Given the description of an element on the screen output the (x, y) to click on. 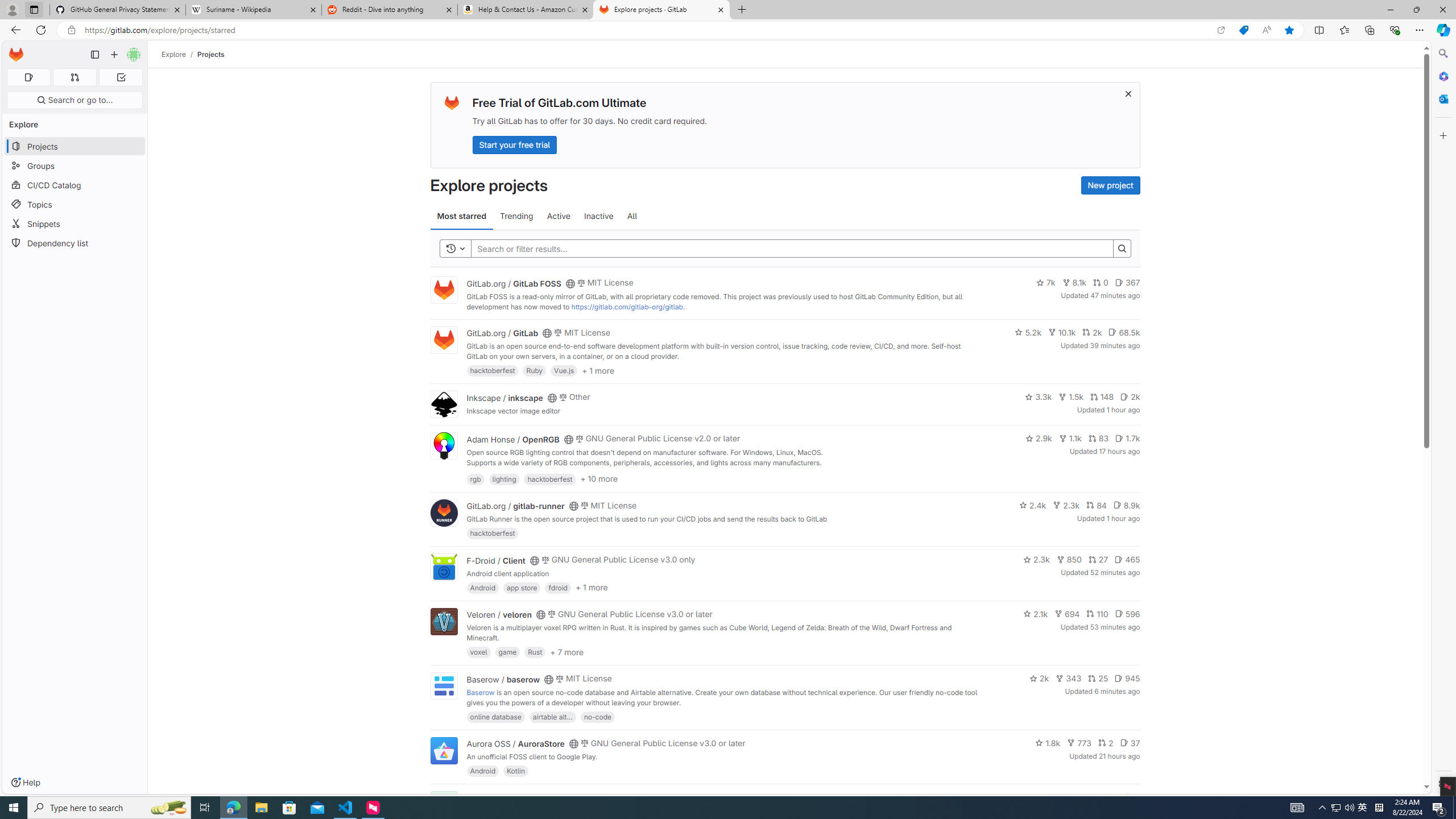
596 (1127, 613)
Class: s16 gl-icon gl-button-icon  (1127, 93)
2.3k (1035, 559)
0 (1100, 282)
no-code (597, 715)
2.9k (1038, 438)
465 (1127, 559)
+ 7 more (566, 651)
84 (1096, 504)
F-Droid / Client (495, 560)
Class: s14 gl-mr-2 (1128, 796)
